Given the description of an element on the screen output the (x, y) to click on. 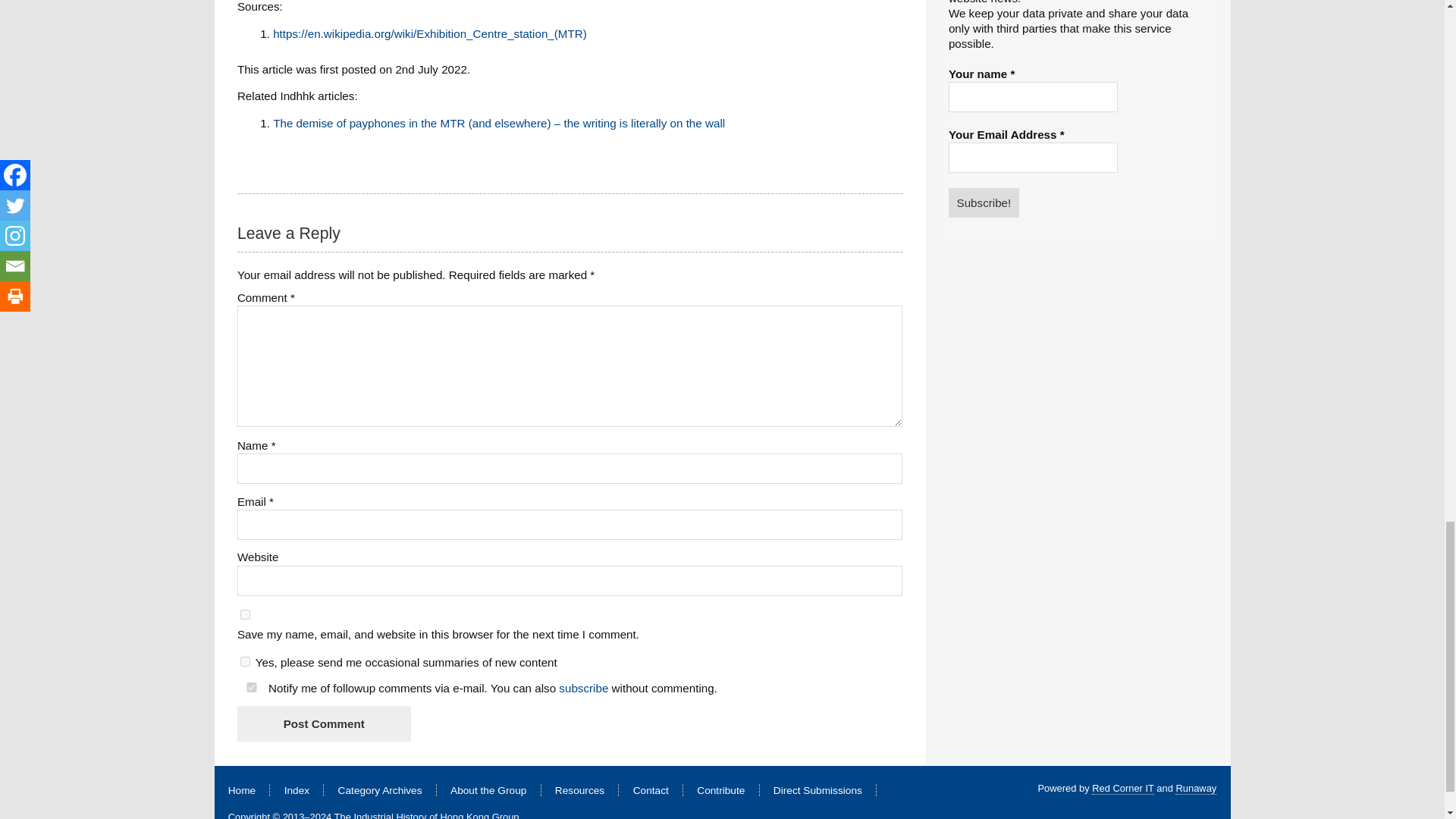
yes (245, 614)
subscribe (583, 687)
1 (245, 661)
Subscribe! (984, 202)
Post Comment (323, 723)
yes (251, 687)
